Given the description of an element on the screen output the (x, y) to click on. 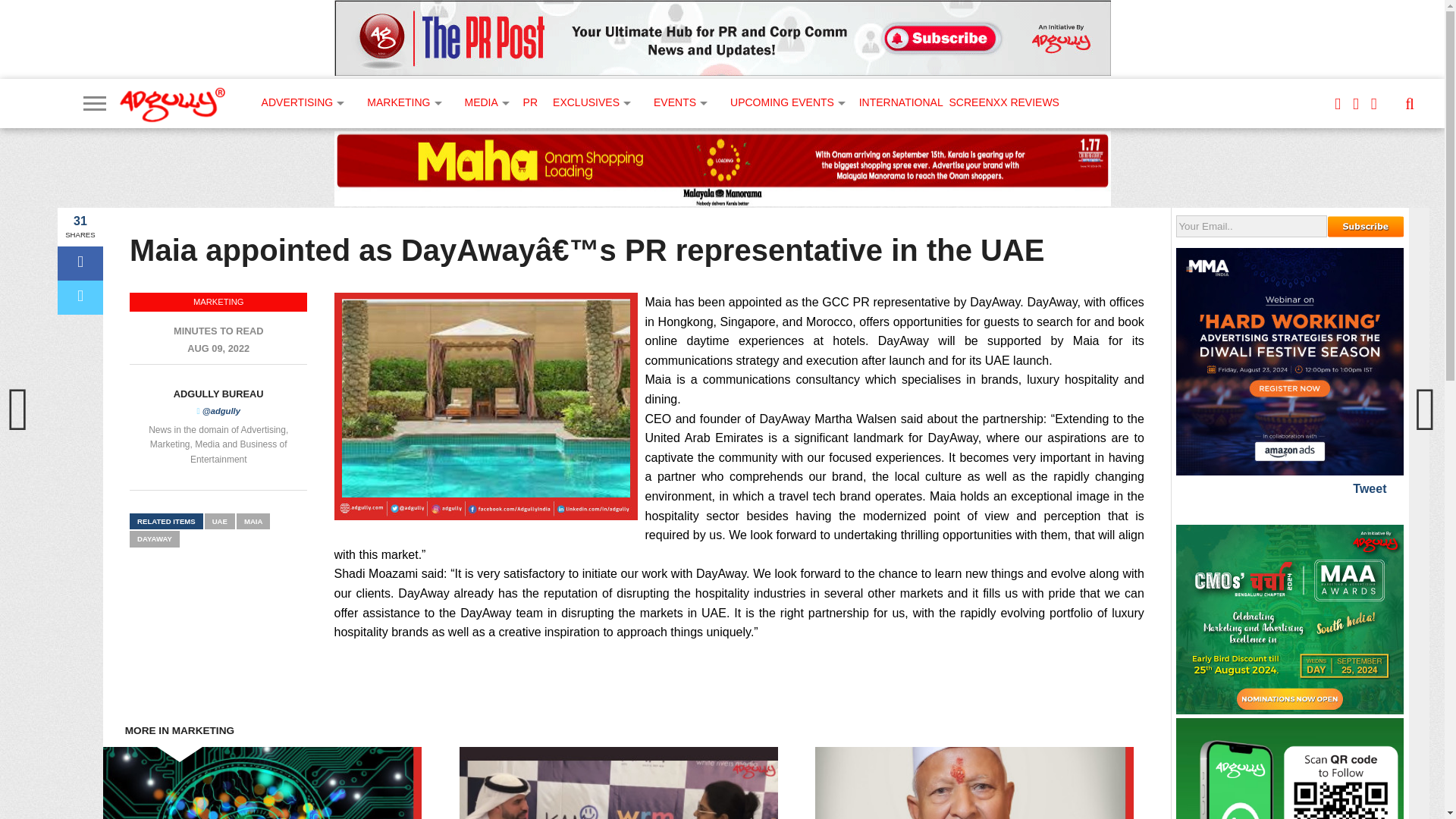
Posts by Adgully Bureau (218, 393)
Share on Facebook (80, 263)
Your Email.. (1251, 226)
Tweet This Post (80, 297)
